Given the description of an element on the screen output the (x, y) to click on. 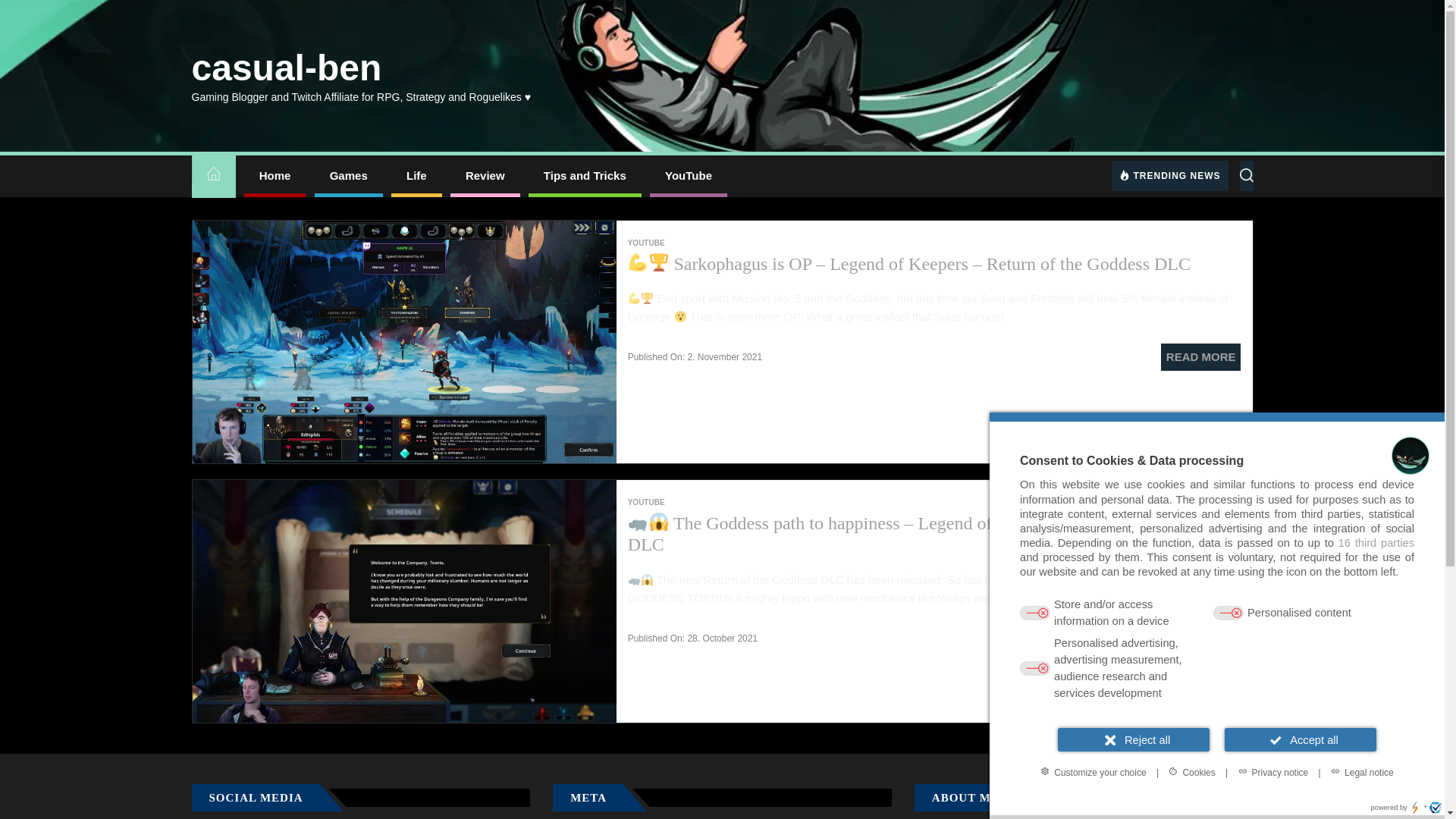
casual-ben (285, 67)
Purpose (1216, 649)
Customize your choice (1092, 771)
Privacy notice (1273, 771)
Reject all (1133, 739)
YouTube (687, 176)
TRENDING NEWS (1170, 175)
Tips and Tricks (585, 176)
Cookies (1191, 771)
Legal notice (1361, 771)
Home (212, 176)
Games (348, 176)
Accept all (1299, 739)
16 third parties (1375, 542)
Home (274, 176)
